Given the description of an element on the screen output the (x, y) to click on. 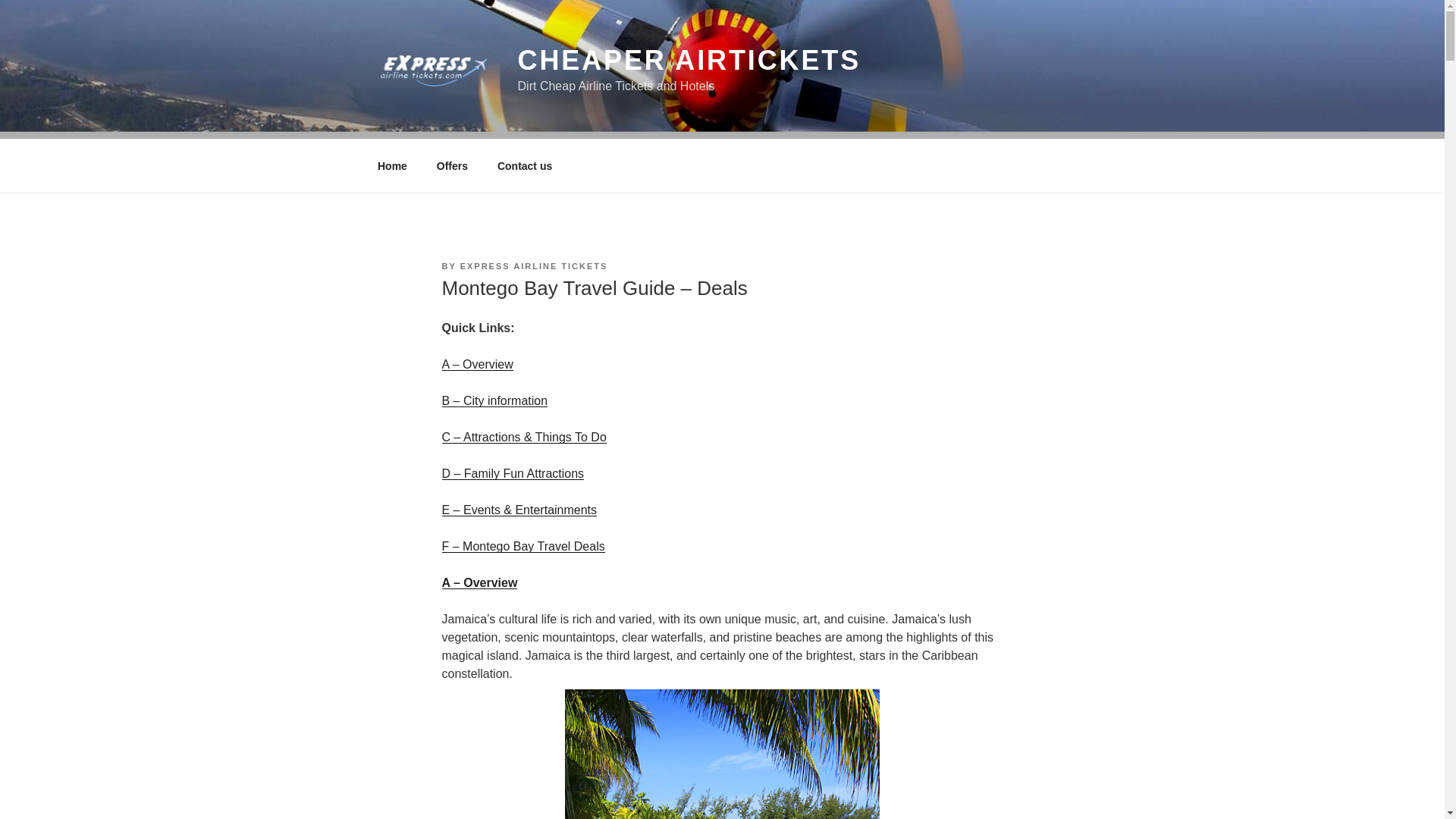
city information (494, 400)
Offers (451, 165)
CHEAPER AIRTICKETS (689, 60)
events and entertainments (518, 509)
montego bay overview (721, 754)
Home (392, 165)
Contact us (523, 165)
family fun and attractions (512, 472)
city overview (476, 364)
events and entertainments (522, 545)
EXPRESS AIRLINE TICKETS (534, 266)
